Given the description of an element on the screen output the (x, y) to click on. 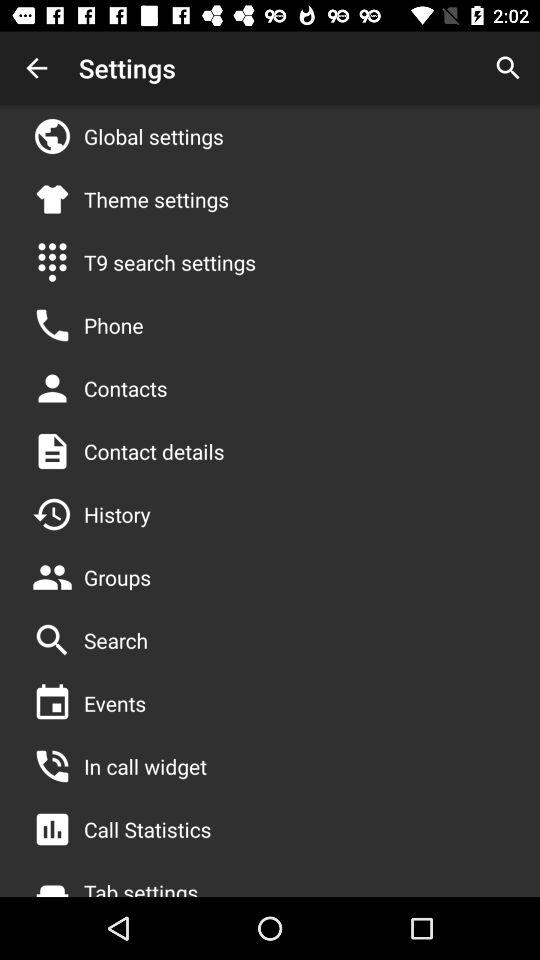
turn on app below the contact details icon (117, 514)
